Given the description of an element on the screen output the (x, y) to click on. 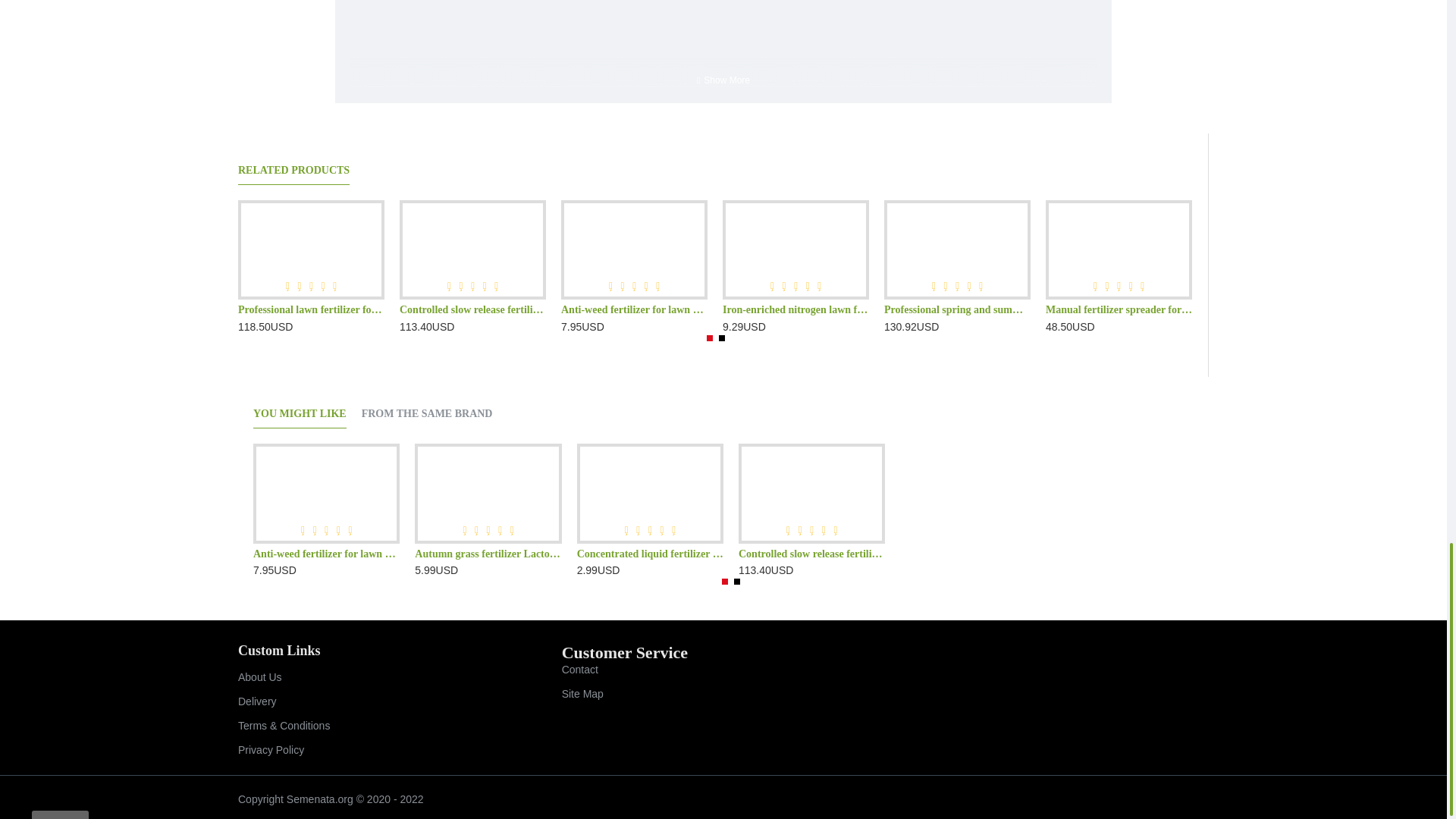
YouTube video player (723, 41)
